Given the description of an element on the screen output the (x, y) to click on. 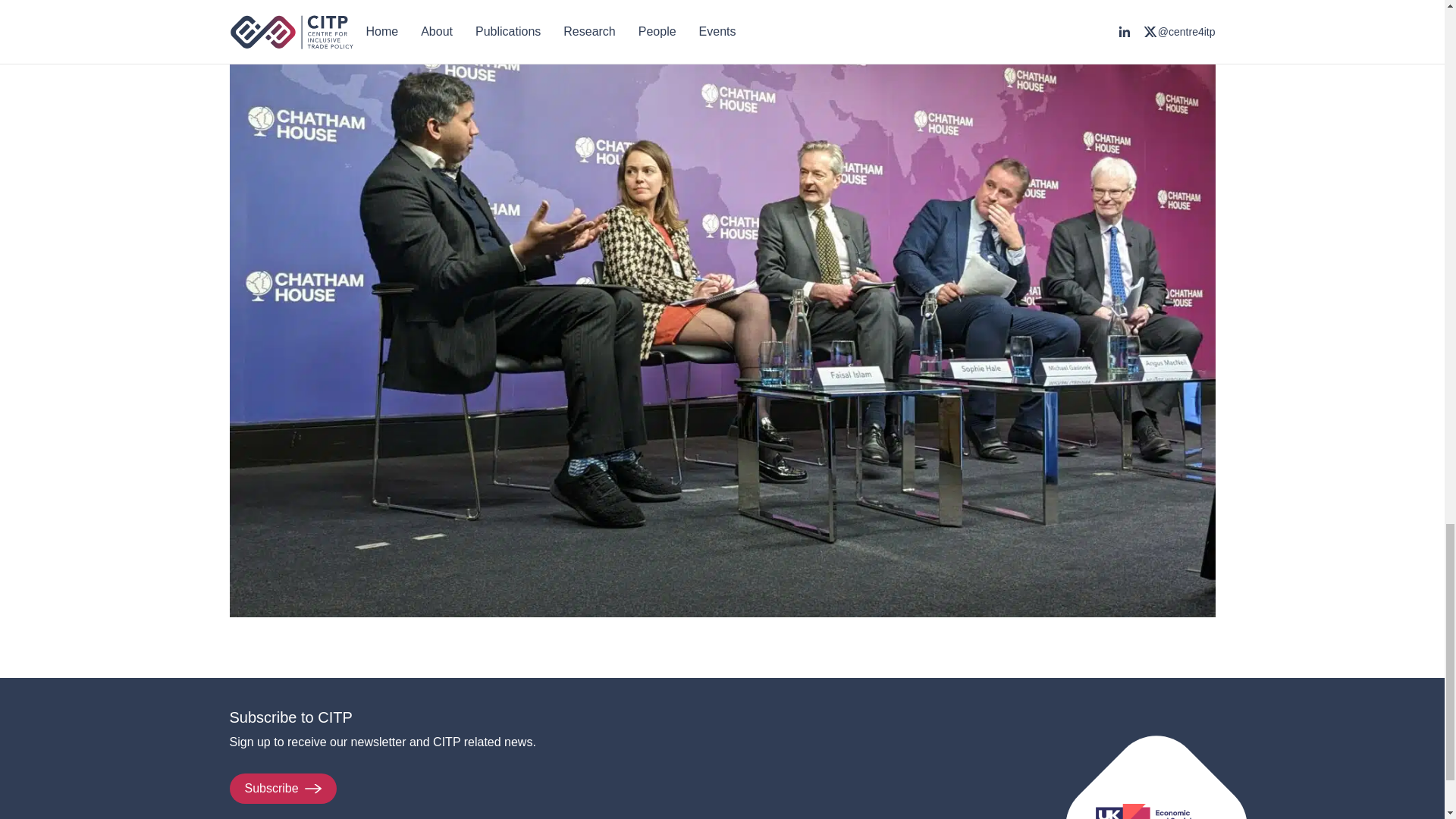
Subscribe (282, 788)
Economic and Social Research Council (1154, 811)
